Given the description of an element on the screen output the (x, y) to click on. 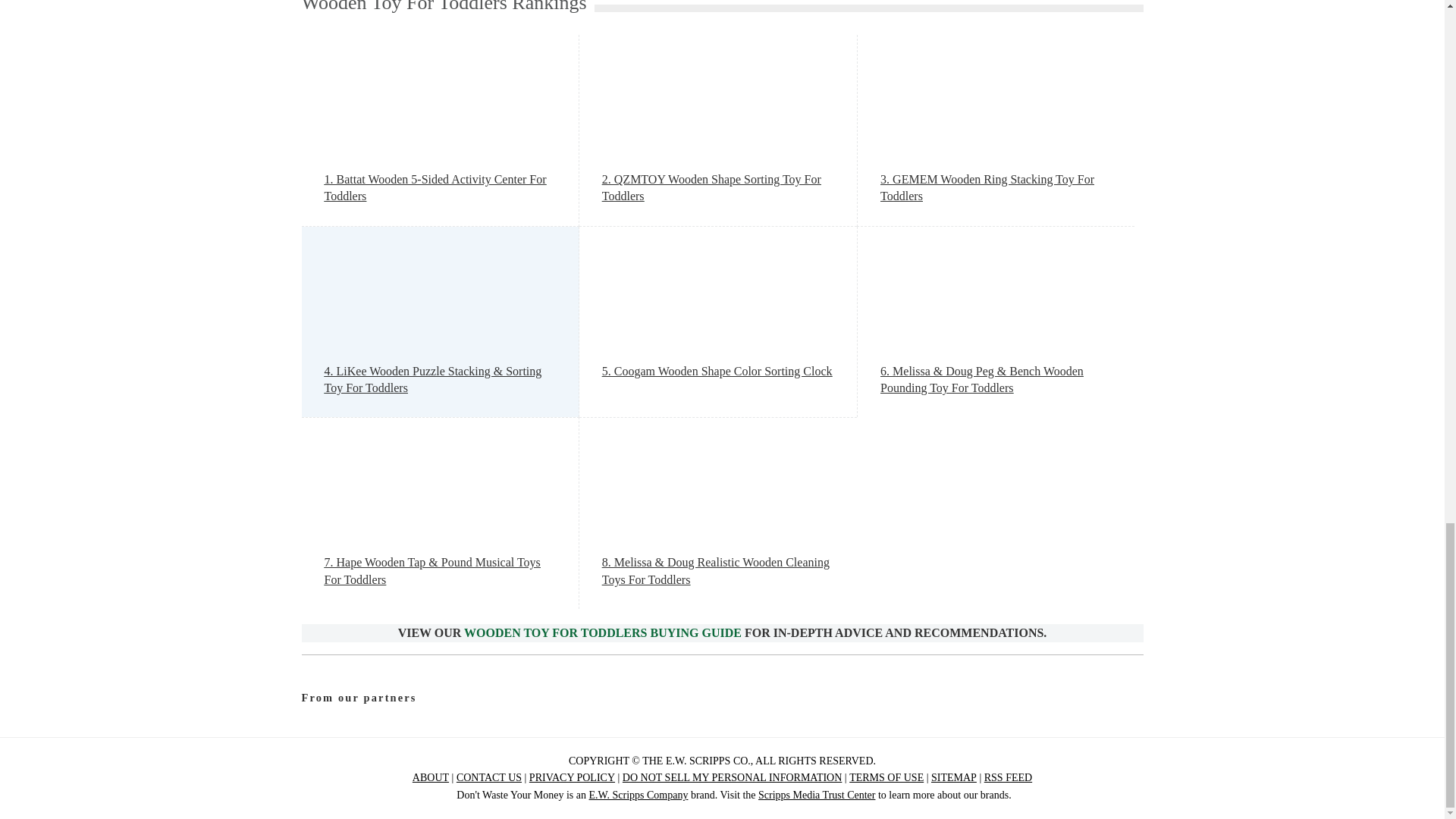
2. QZMTOY Wooden Shape Sorting Toy For Toddlers (718, 188)
1. Battat Wooden 5-Sided Activity Center For Toddlers (440, 188)
